Given the description of an element on the screen output the (x, y) to click on. 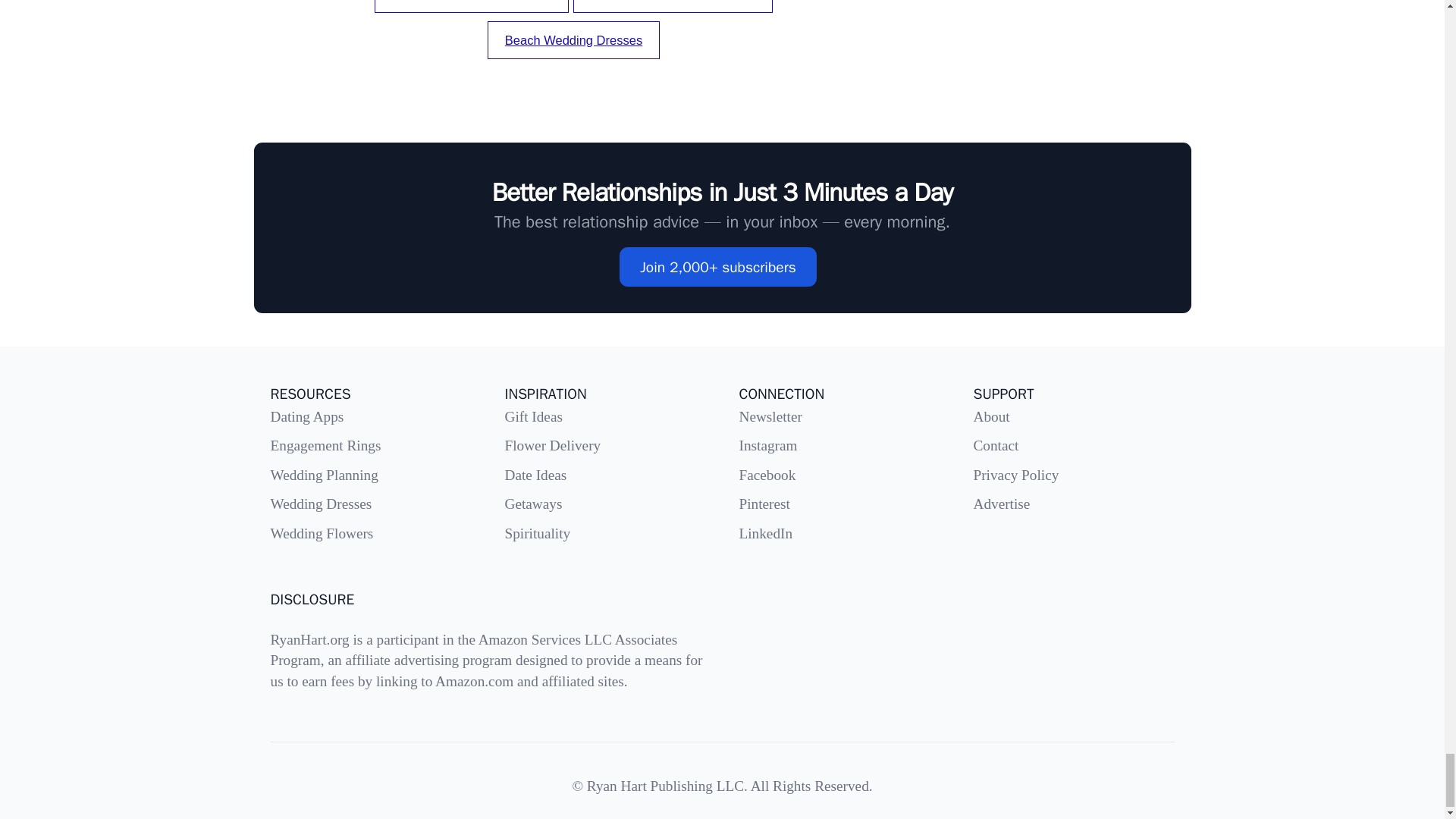
Wedding Dress Preservation (471, 6)
Spirituality (537, 533)
Wedding Dresses (320, 503)
Flower Delivery (553, 445)
Dating Apps (306, 416)
Beach Wedding Dresses (573, 39)
Wedding Flowers (320, 533)
Engagement Rings (324, 445)
Wedding Dresses on Amazon (673, 6)
Date Ideas (536, 474)
